Given the description of an element on the screen output the (x, y) to click on. 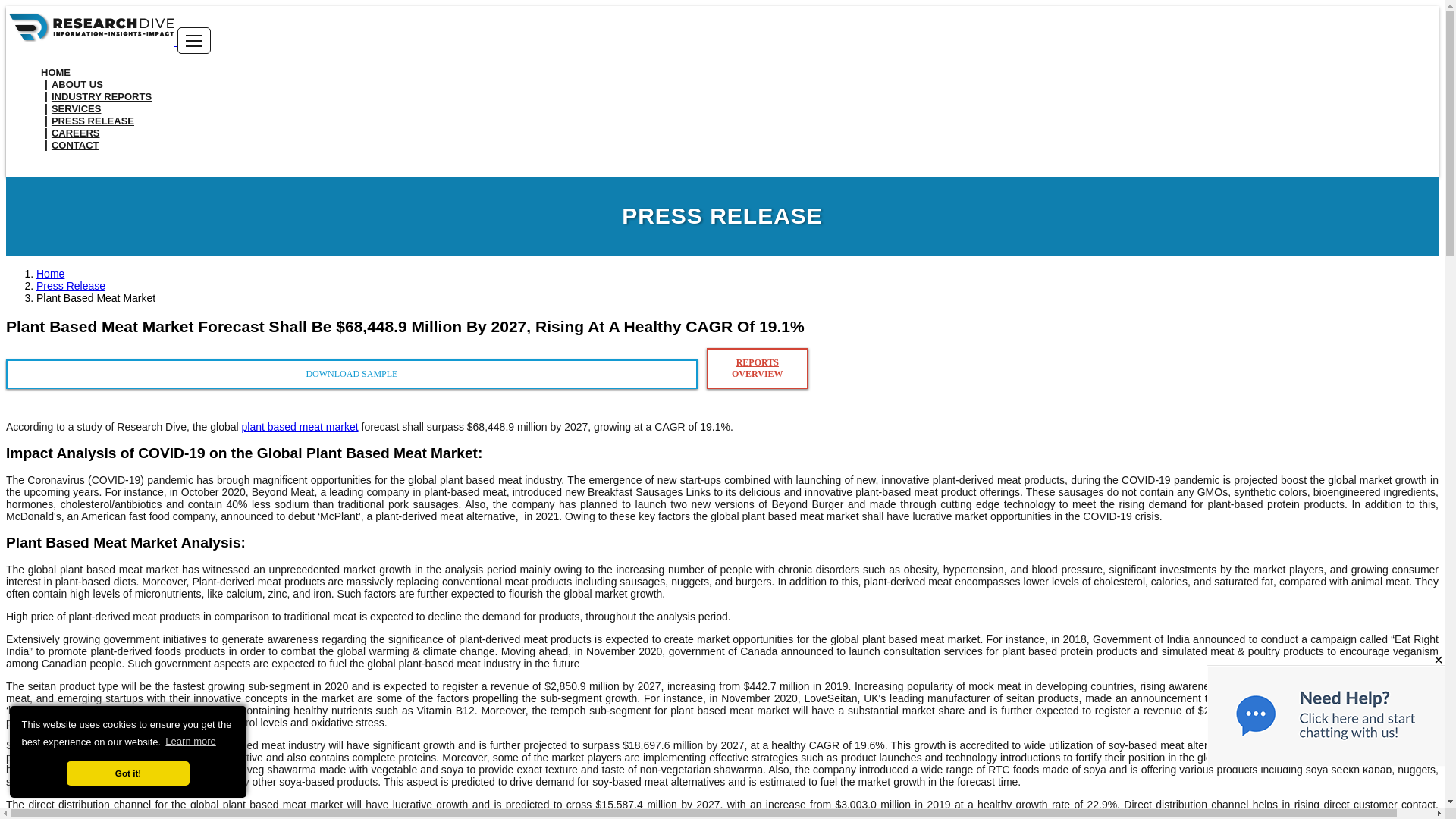
INDUSTRY REPORTS (95, 96)
Got it! (128, 773)
HOME (55, 71)
CONTACT (69, 144)
Press Release (70, 285)
DOWNLOAD SAMPLE (351, 374)
PRESS RELEASE (86, 120)
Home (50, 273)
plant based meat market (299, 426)
REPORTS OVERVIEW (757, 368)
Learn more (190, 741)
LiveChat chat widget (1335, 783)
CAREERS (70, 132)
ABOUT US (71, 84)
SERVICES (70, 108)
